Given the description of an element on the screen output the (x, y) to click on. 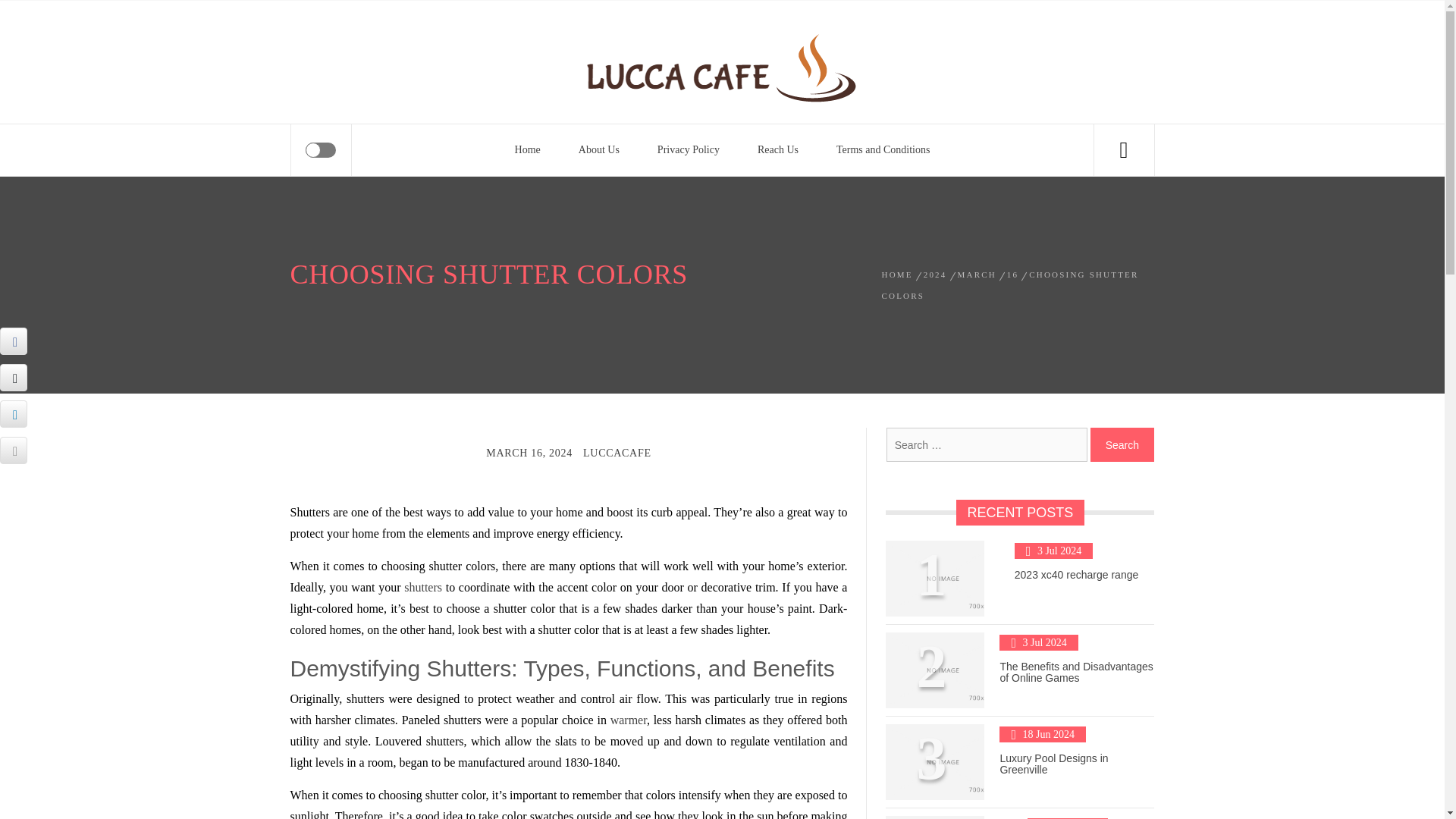
Search (1122, 444)
shutters (423, 586)
The Benefits and Disadvantages of Online Games (1075, 671)
Search (1122, 444)
Reach Us (777, 150)
LUCCACAFE (616, 452)
Lucca Cafe (419, 51)
Home (527, 150)
Search (797, 41)
MARCH 16, 2024 (529, 452)
HOME (898, 274)
2024 (935, 274)
Terms and Conditions (882, 150)
Luxury Pool Designs in Greenville (1053, 763)
warmer (628, 719)
